Given the description of an element on the screen output the (x, y) to click on. 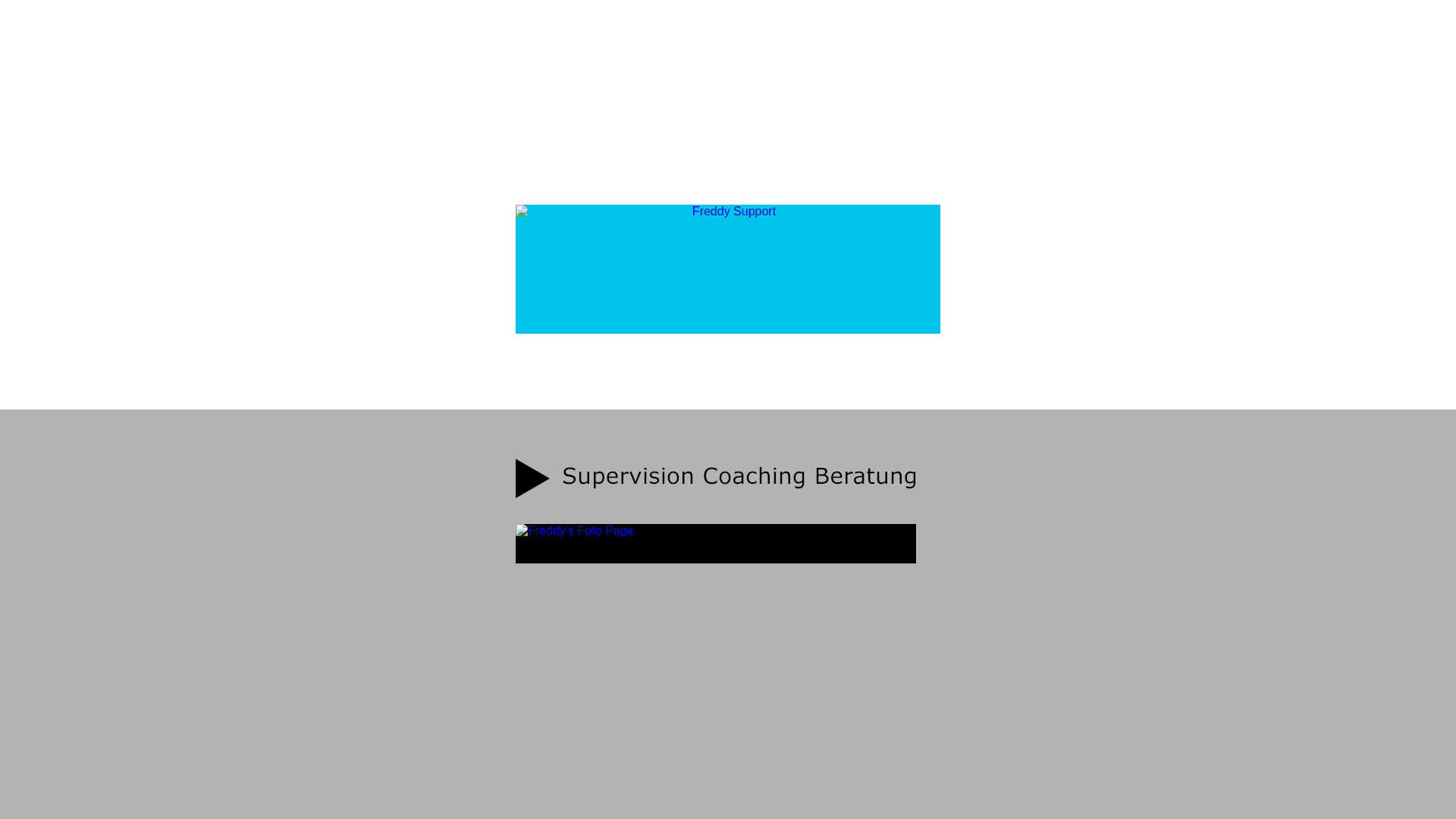
zur Website Streetphotos.ch Element type: hover (715, 543)
zur Website Freddy Support Element type: hover (727, 268)
zur Website Supervision Coaching Beratung Element type: hover (715, 478)
